Given the description of an element on the screen output the (x, y) to click on. 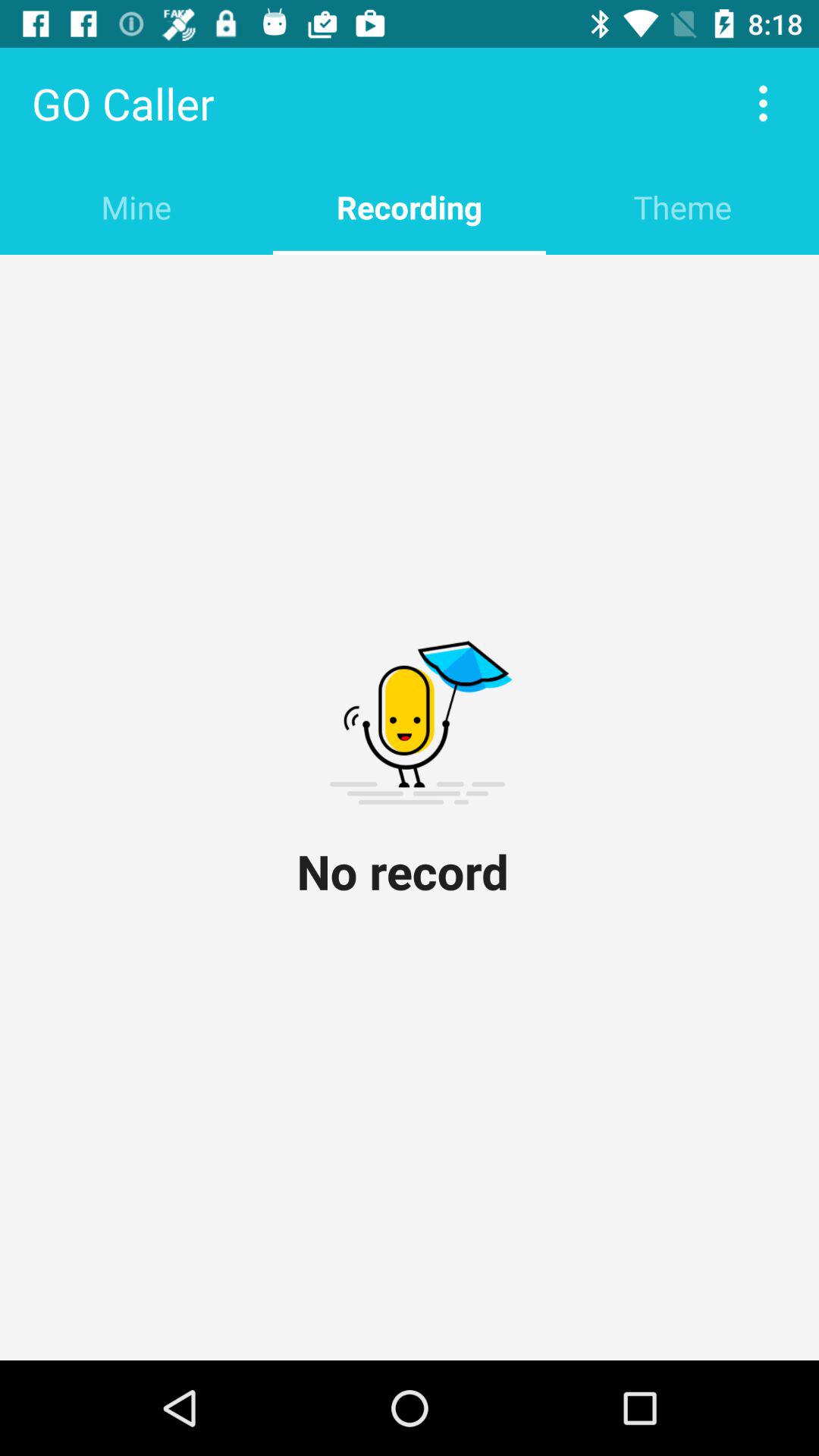
select item to the left of theme item (409, 206)
